Given the description of an element on the screen output the (x, y) to click on. 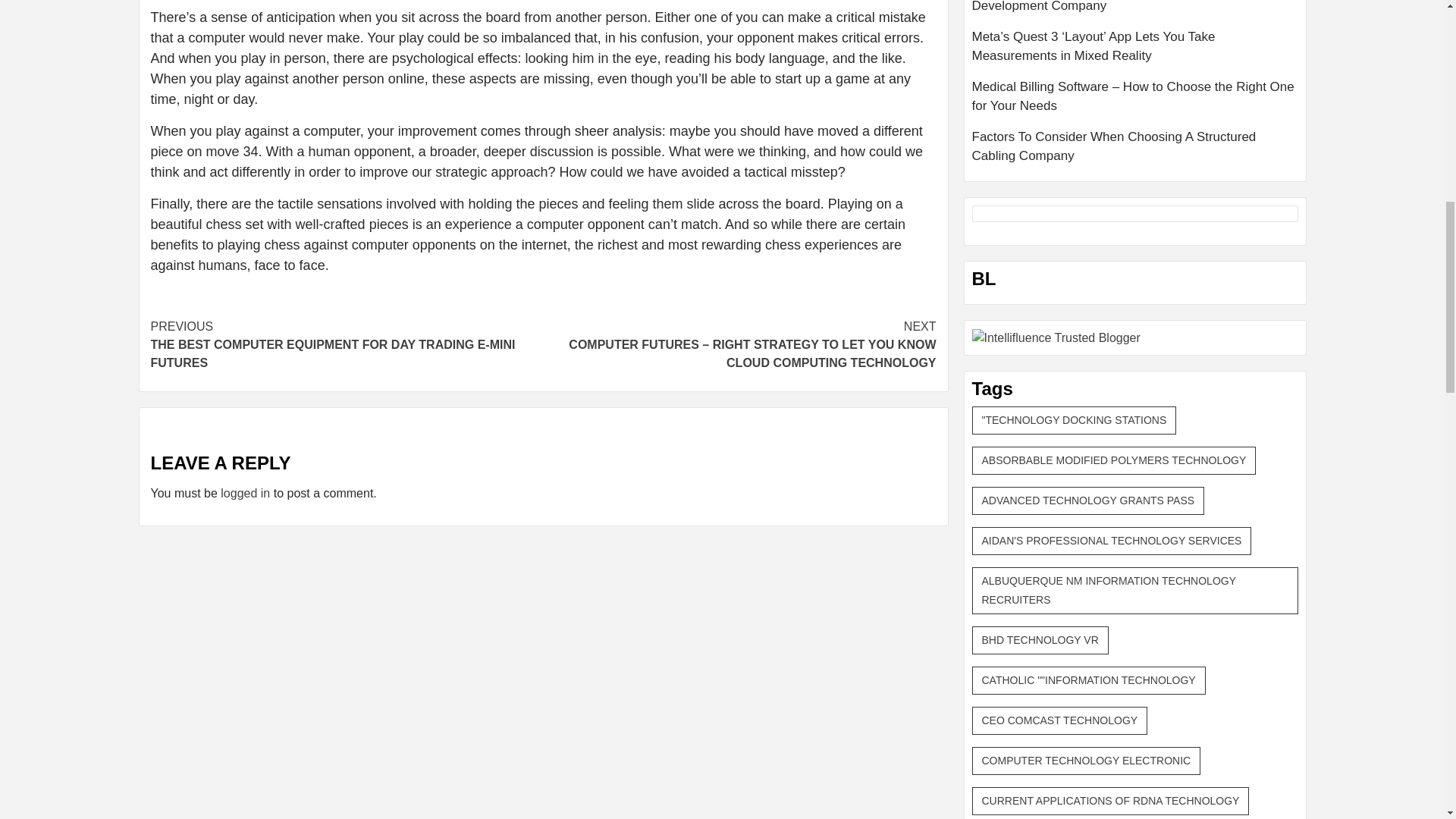
BHD TECHNOLOGY VR (1040, 640)
ABSORBABLE MODIFIED POLYMERS TECHNOLOGY (1114, 460)
logged in (245, 492)
AIDAN'S PROFESSIONAL TECHNOLOGY SERVICES (1112, 541)
"TECHNOLOGY DOCKING STATIONS (1074, 420)
ADVANCED TECHNOLOGY GRANTS PASS (1088, 500)
ALBUQUERQUE NM INFORMATION TECHNOLOGY RECRUITERS (1135, 590)
